Given the description of an element on the screen output the (x, y) to click on. 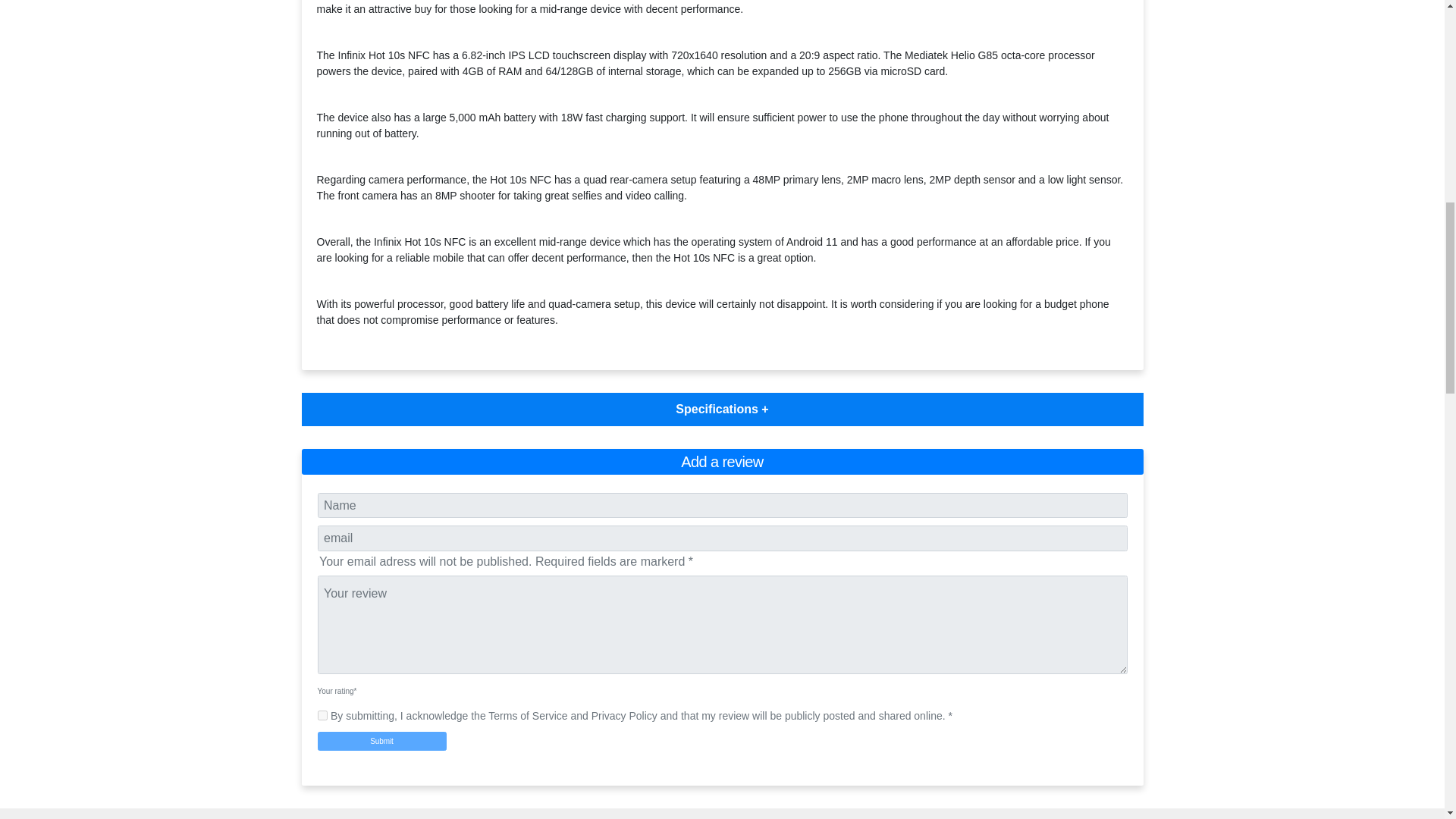
Submit (381, 741)
on (321, 715)
